Given the description of an element on the screen output the (x, y) to click on. 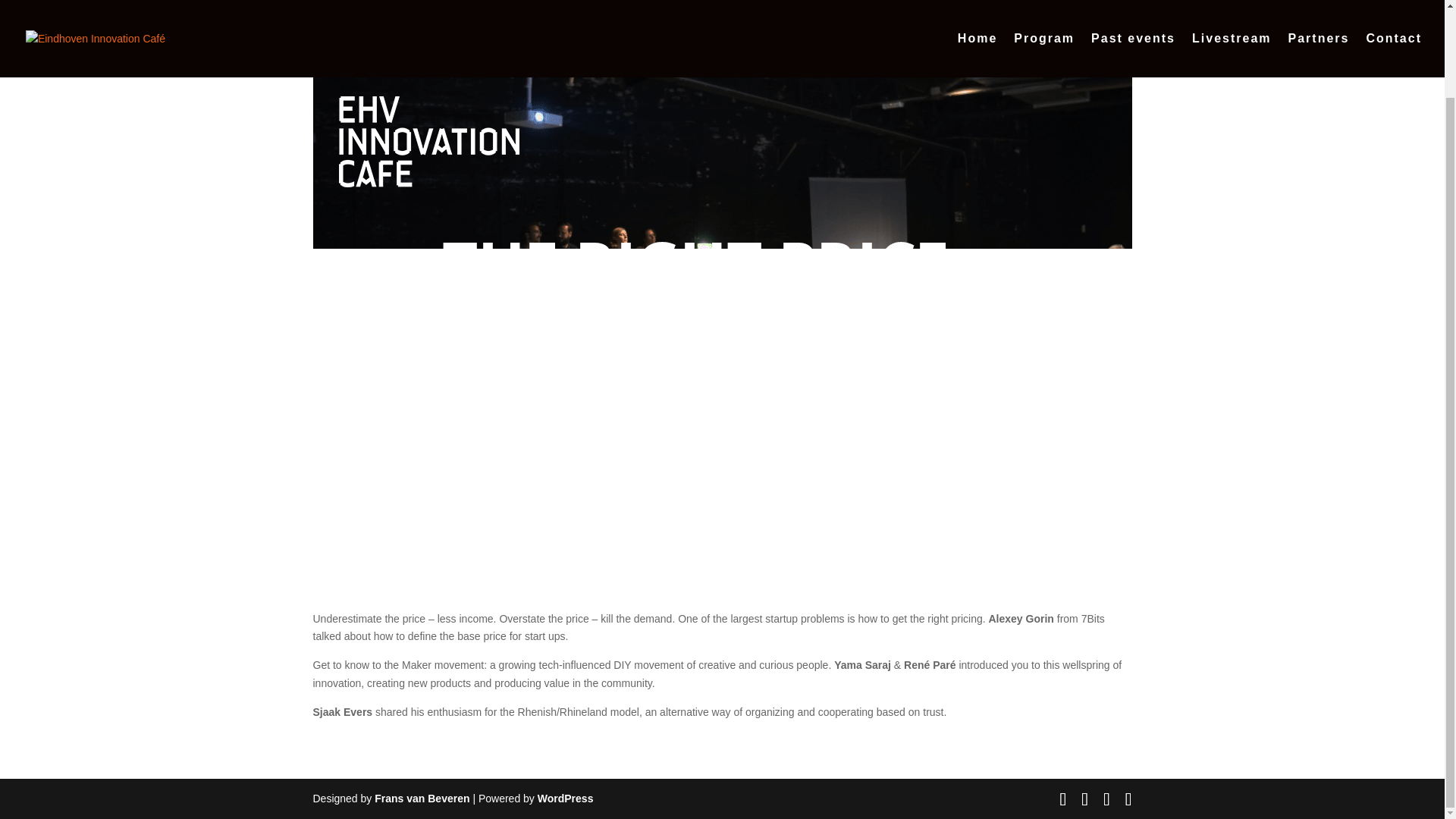
WordPress (565, 798)
Frans van Beveren (421, 798)
0 comments (547, 43)
Kazerne (346, 43)
Posts by Kazerne (346, 43)
Uncategorized (475, 43)
